Given the description of an element on the screen output the (x, y) to click on. 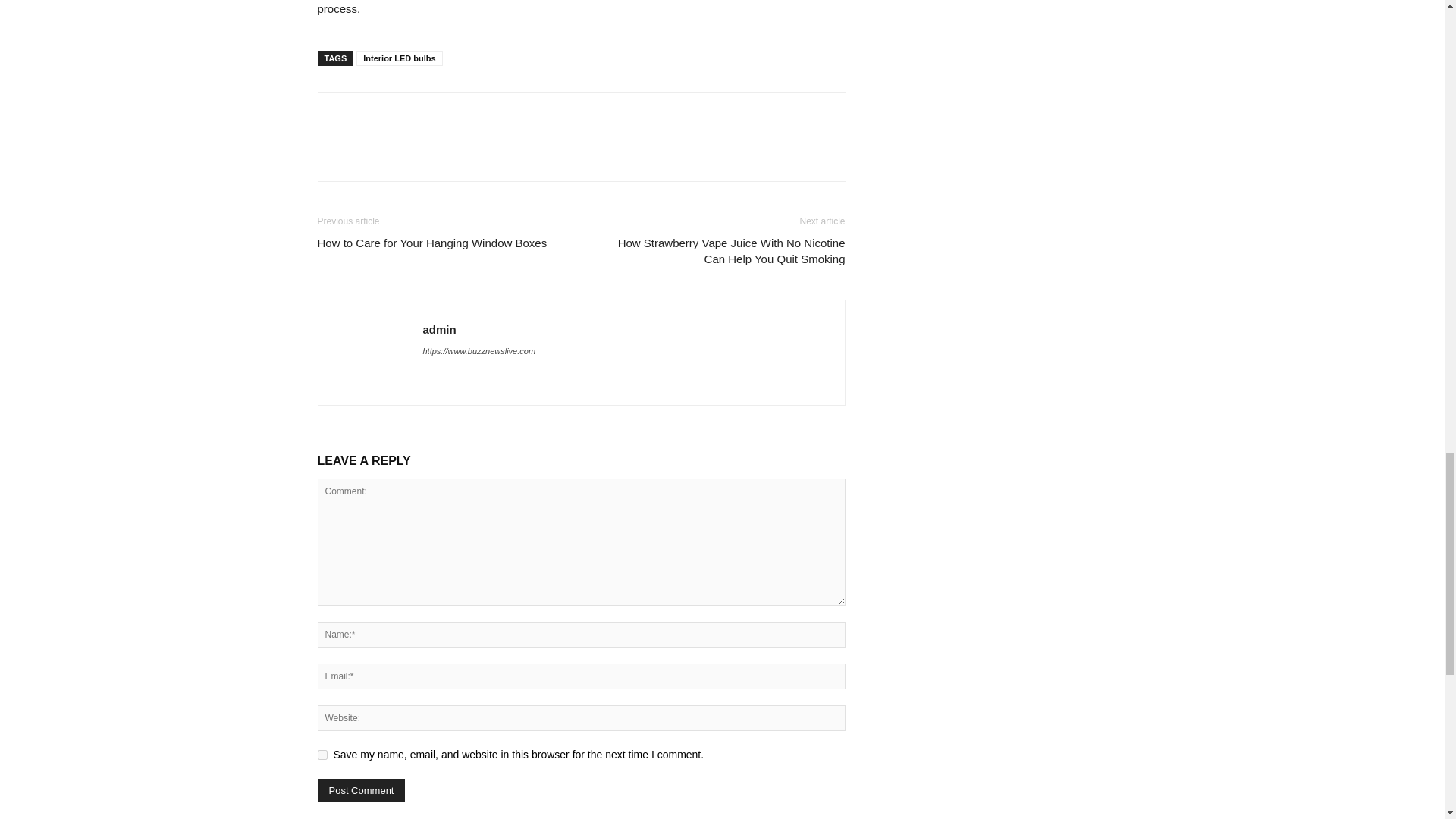
Post Comment (360, 790)
yes (321, 755)
